Given the description of an element on the screen output the (x, y) to click on. 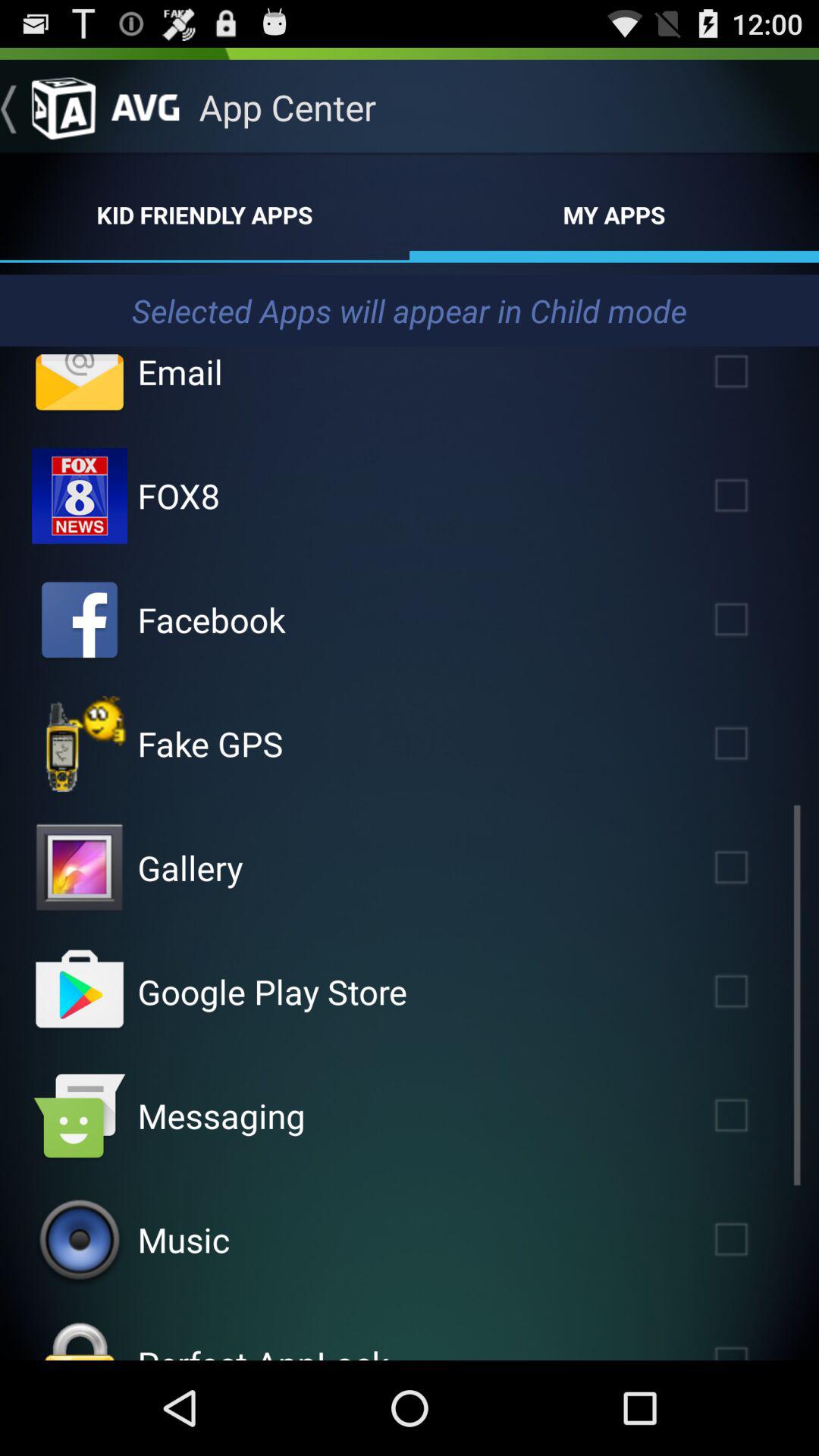
check fox8 selection (753, 495)
